Given the description of an element on the screen output the (x, y) to click on. 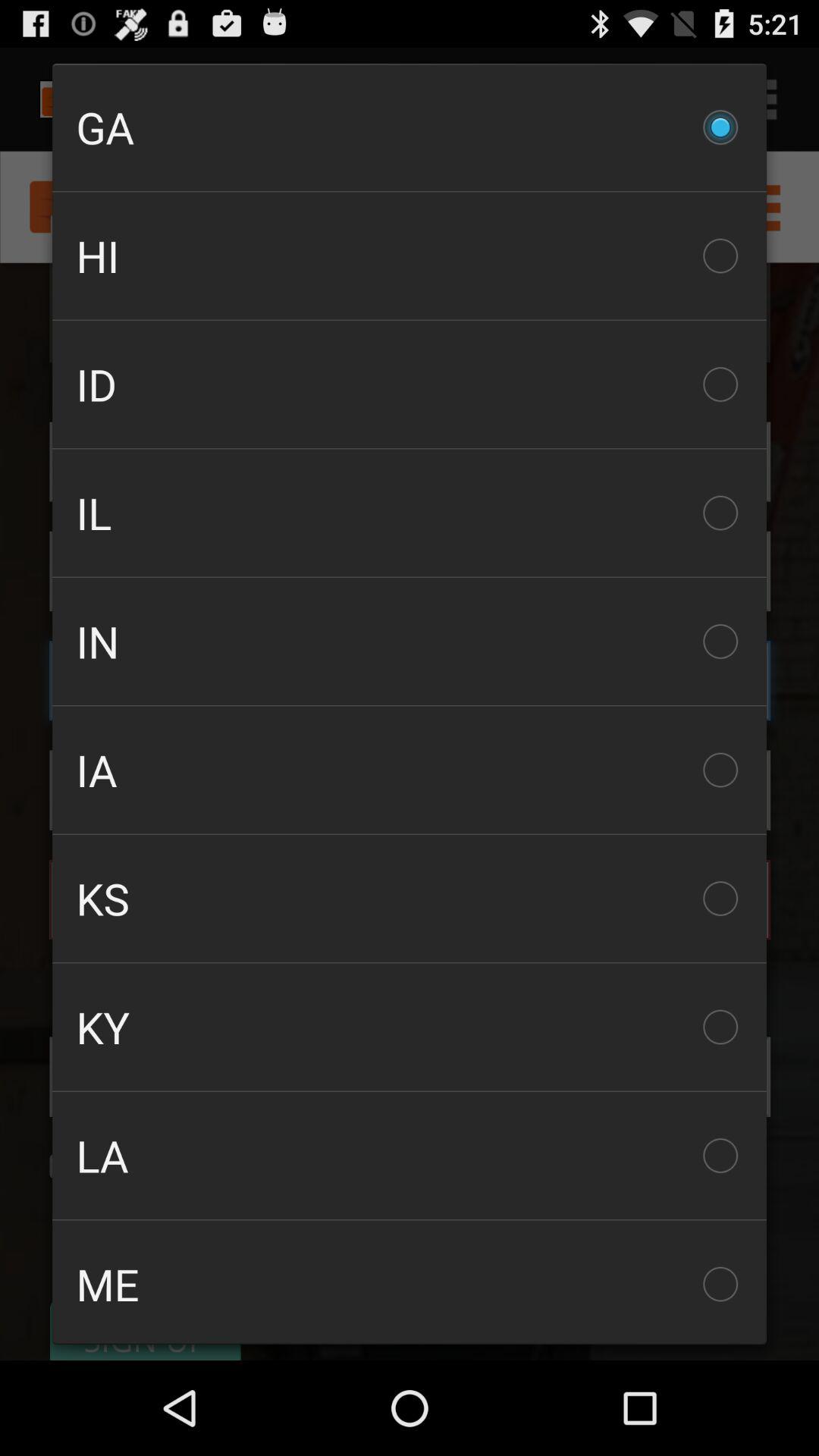
launch the item above me icon (409, 1155)
